Given the description of an element on the screen output the (x, y) to click on. 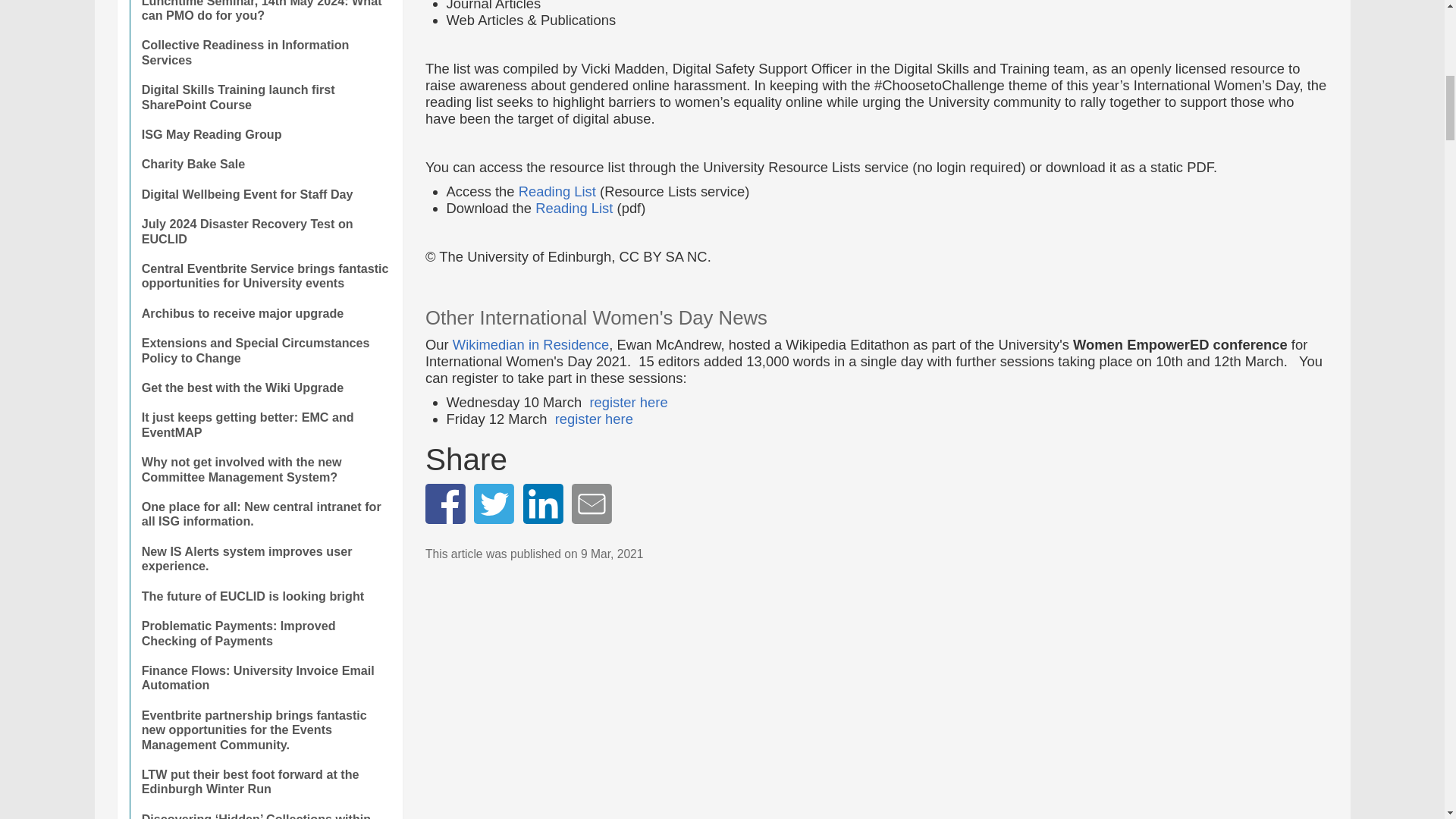
Digital Wellbeing Event for Staff Day (266, 194)
The future of EUCLID is looking bright (266, 595)
It just keeps getting better: EMC and EventMAP (266, 424)
Lunchtime Seminar, 14th May 2024: What can PMO do for you? (266, 15)
Digital Skills Training launch first SharePoint Course (266, 97)
ISG May Reading Group (266, 134)
Collective Readiness in Information Services (266, 52)
Finance Flows: University Invoice Email Automation (266, 678)
New IS Alerts system improves user experience. (266, 559)
LTW put their best foot forward at the Edinburgh Winter Run (266, 782)
